Given the description of an element on the screen output the (x, y) to click on. 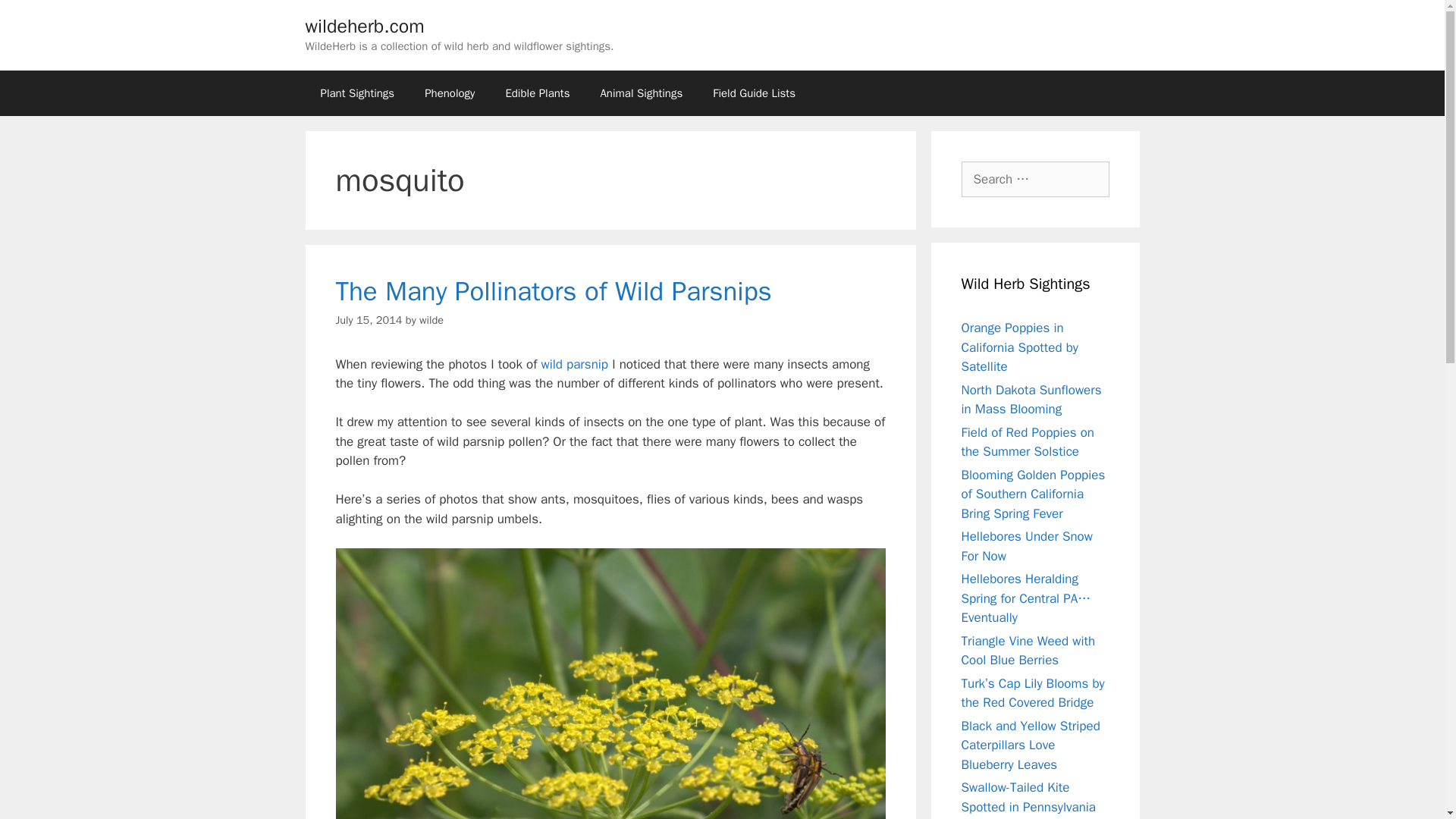
The Many Pollinators of Wild Parsnips (552, 290)
Plant Sightings (356, 92)
wild parsnip (574, 364)
Wild Parsnip Flowers (574, 364)
View all posts by wilde (431, 319)
Search for: (1034, 178)
Hellebores Under Snow For Now (1026, 546)
Swallow-Tailed Kite Spotted in Pennsylvania (1028, 796)
Edible Plants (537, 92)
North Dakota Sunflowers in Mass Blooming (1031, 399)
